Given the description of an element on the screen output the (x, y) to click on. 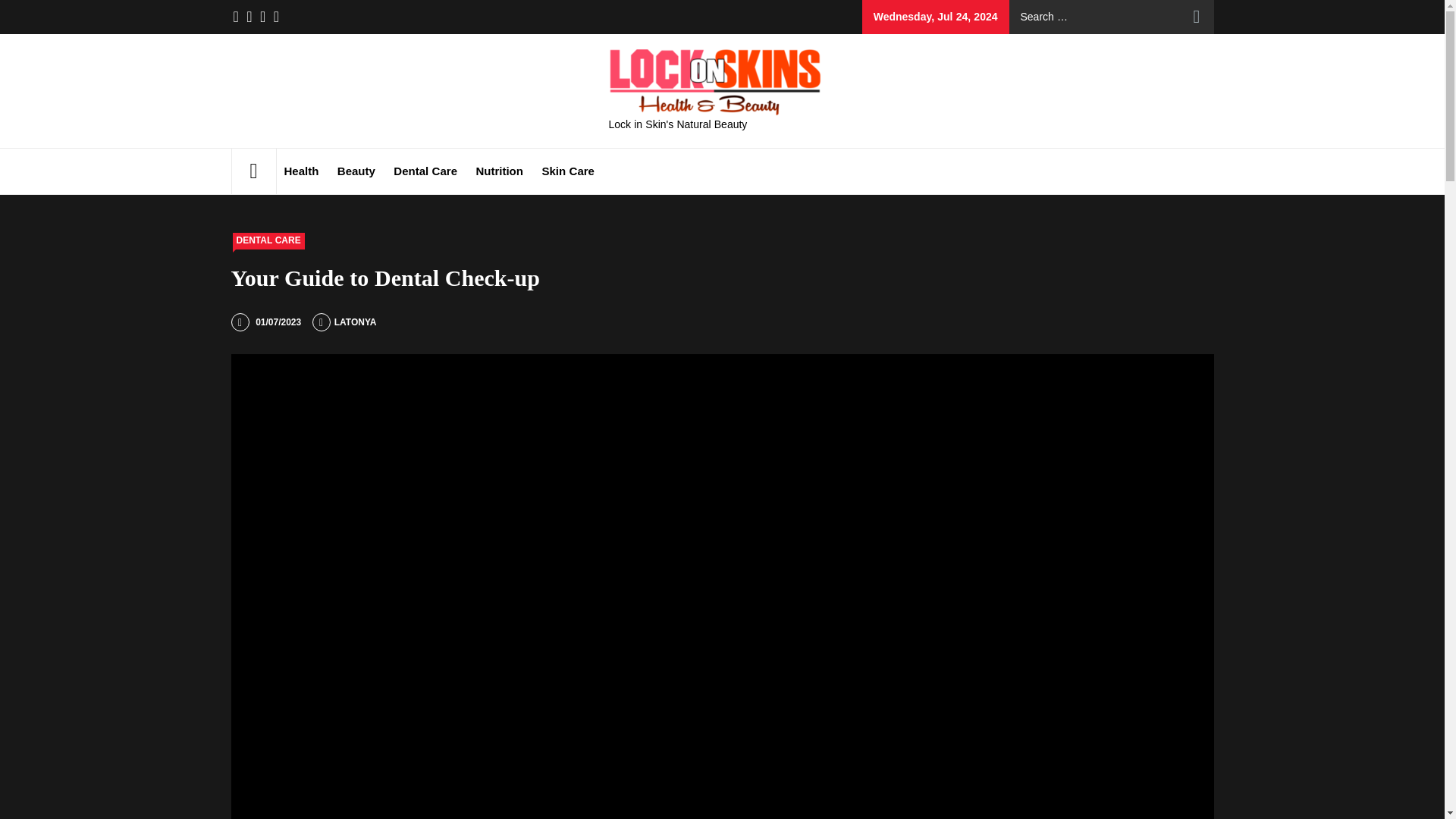
DENTAL CARE (267, 240)
LATONYA (345, 321)
Skin Care (568, 171)
Search (1196, 17)
Dental Care (424, 171)
Search (1196, 17)
Nutrition (498, 171)
Beauty (356, 171)
Health (301, 171)
Healthy Skin Care (956, 67)
Search (1196, 17)
